Given the description of an element on the screen output the (x, y) to click on. 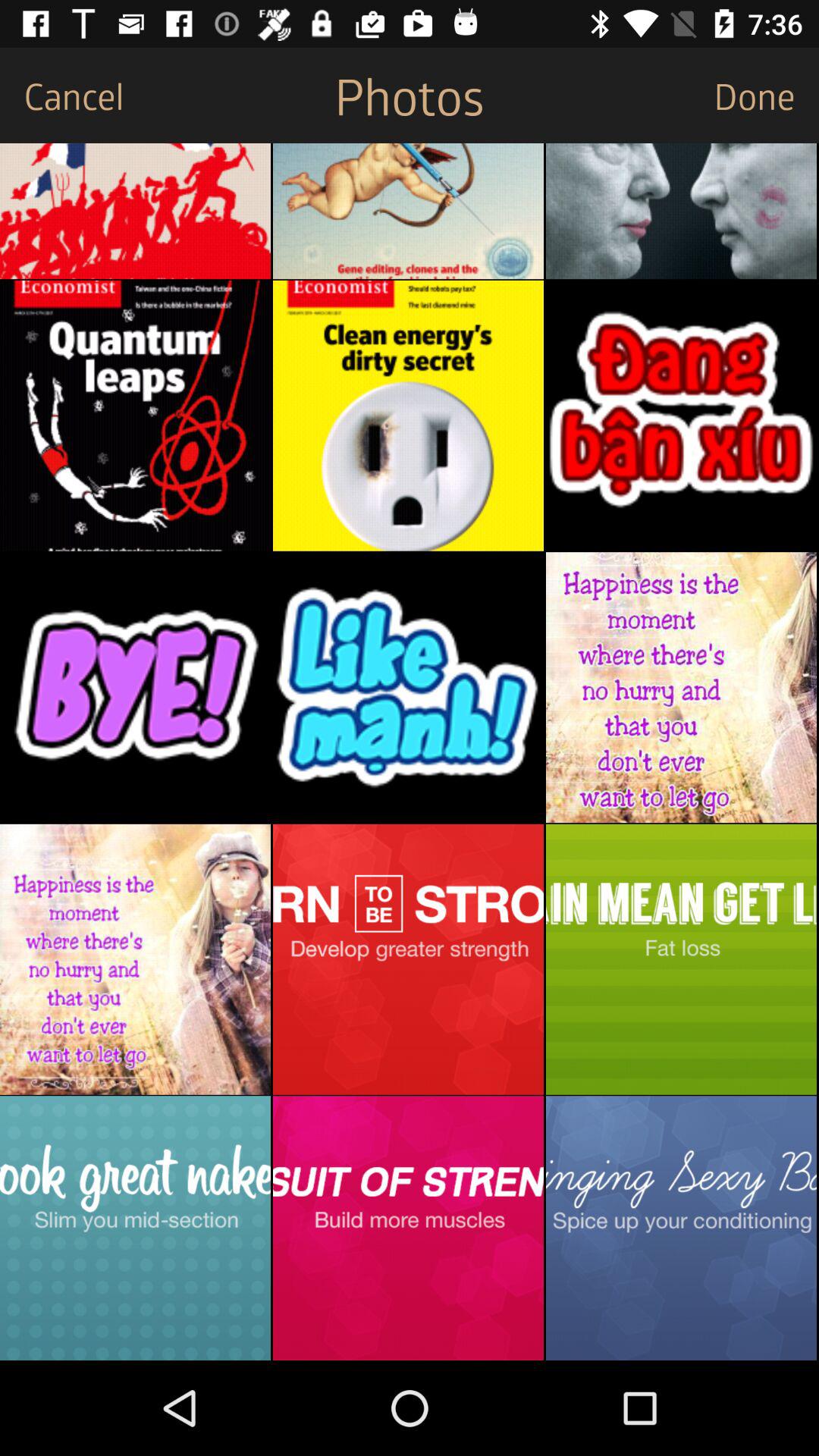
image folder (681, 959)
